Given the description of an element on the screen output the (x, y) to click on. 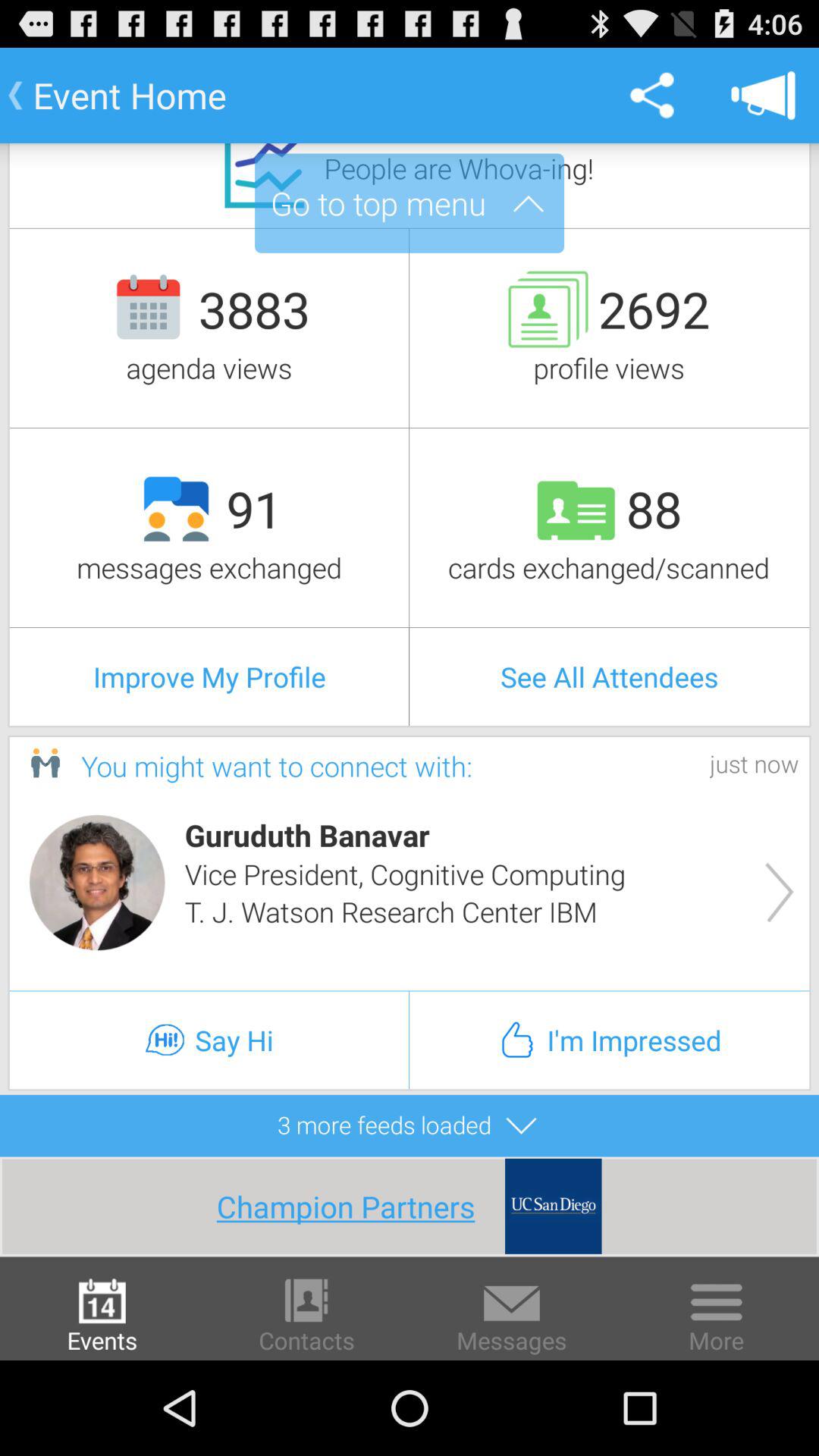
select the see all attendees item (609, 676)
